Given the description of an element on the screen output the (x, y) to click on. 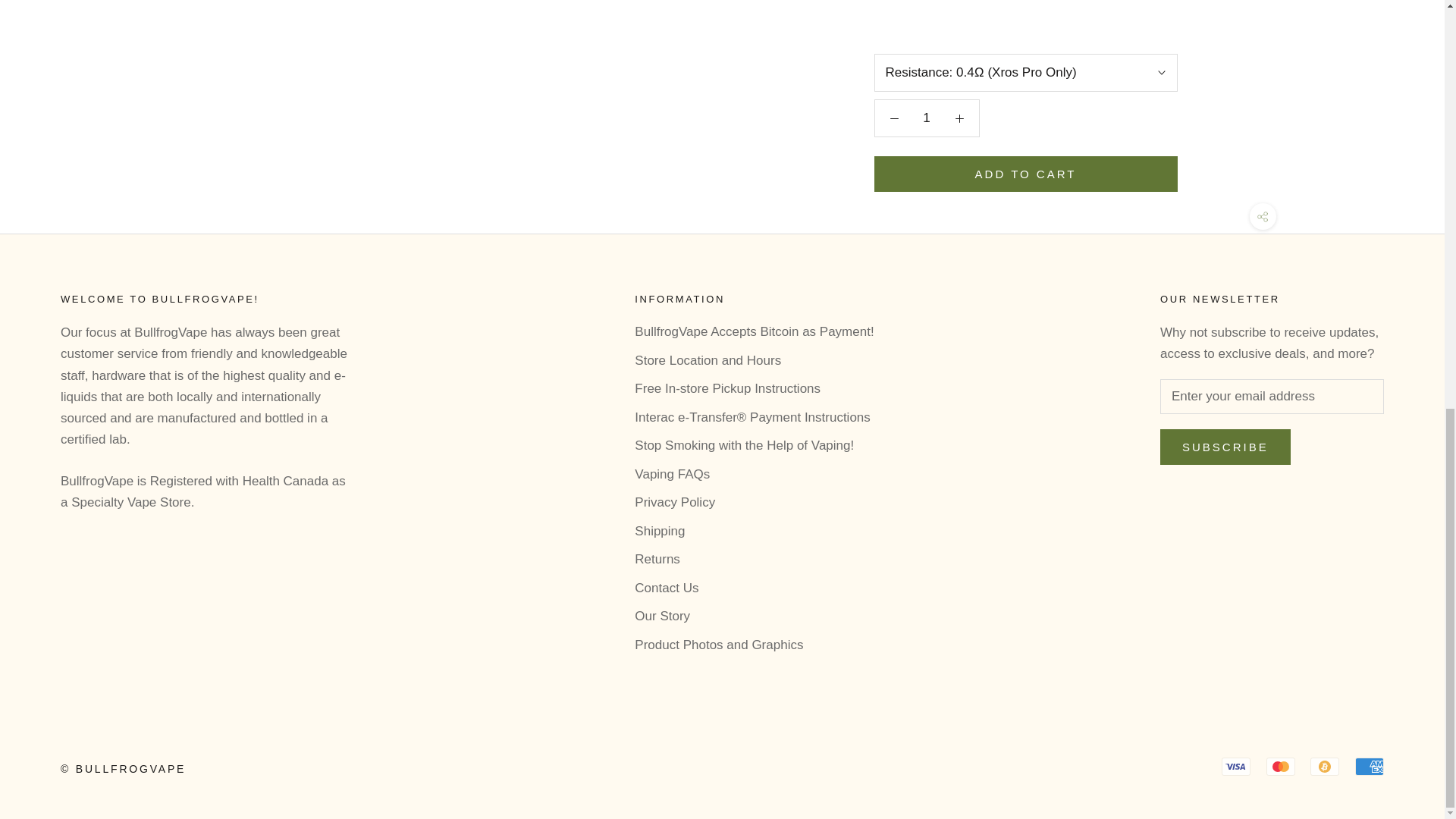
Mastercard (1280, 766)
American Express (1369, 766)
Bitcoin (1324, 766)
Visa (1235, 766)
1 (925, 118)
